Given the description of an element on the screen output the (x, y) to click on. 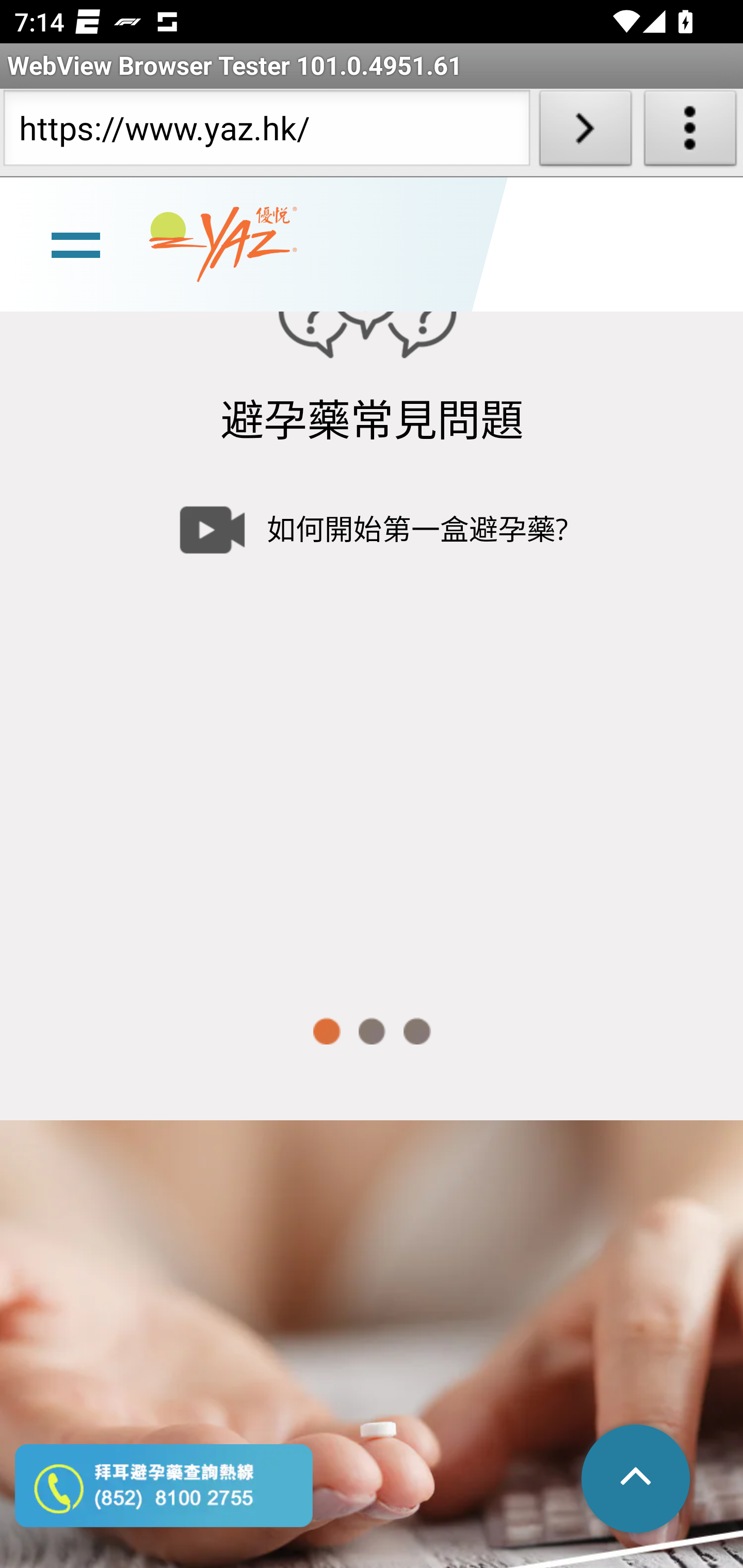
https://www.yaz.hk/ (266, 132)
Load URL (585, 132)
About WebView (690, 132)
www.yaz (222, 244)
line Toggle burger menu (75, 245)
slide 1 如何開始第一盒避孕藥? Video Player Video Player (371, 721)
1 of 3 (326, 1031)
2 of 3 (371, 1031)
3 of 3 (416, 1031)
 (636, 1480)
